Given the description of an element on the screen output the (x, y) to click on. 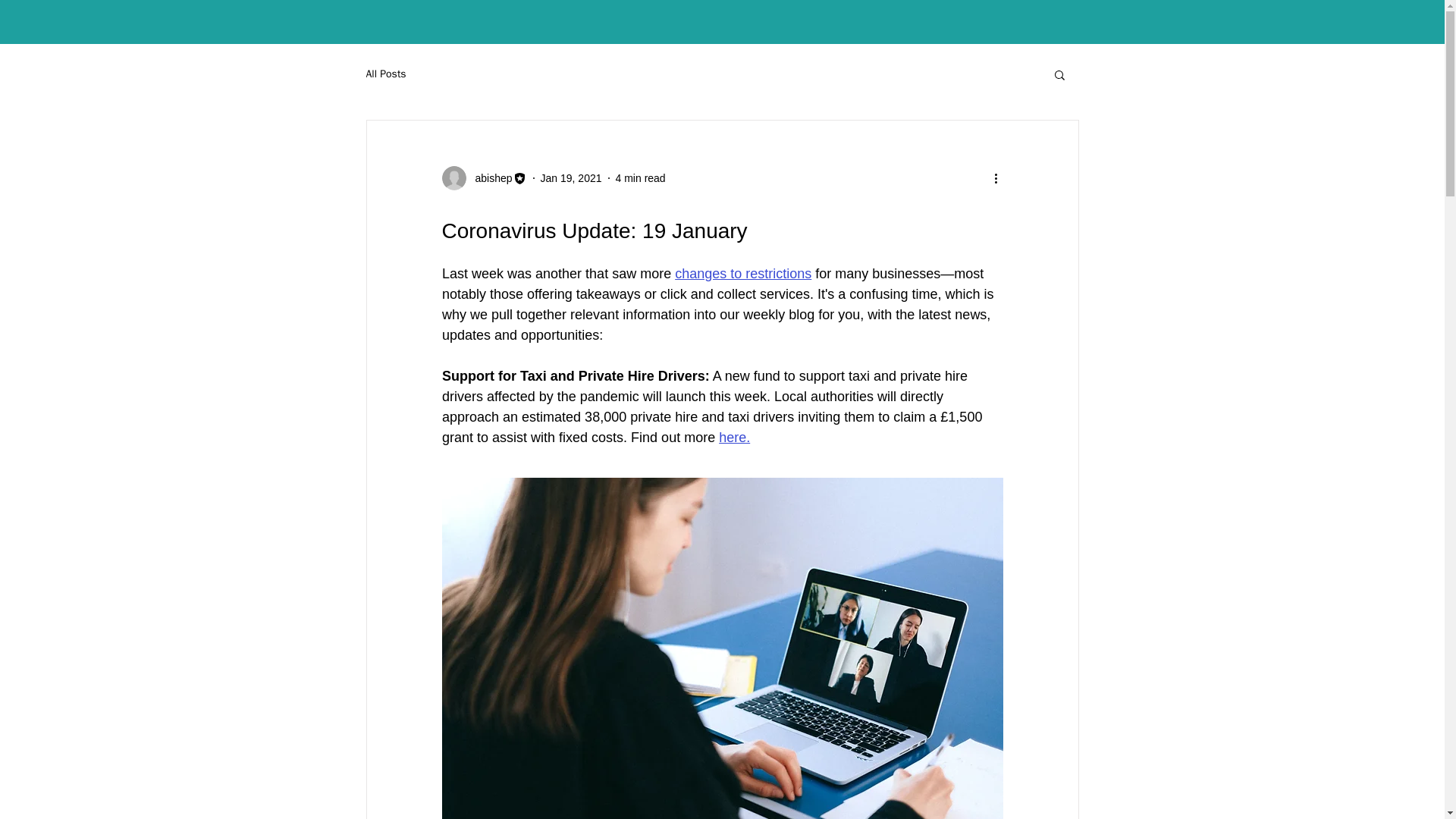
All Posts (385, 74)
changes to restrictions (742, 273)
Jan 19, 2021 (571, 177)
here. (734, 437)
abishep (488, 177)
4 min read (640, 177)
abishep (483, 178)
